Given the description of an element on the screen output the (x, y) to click on. 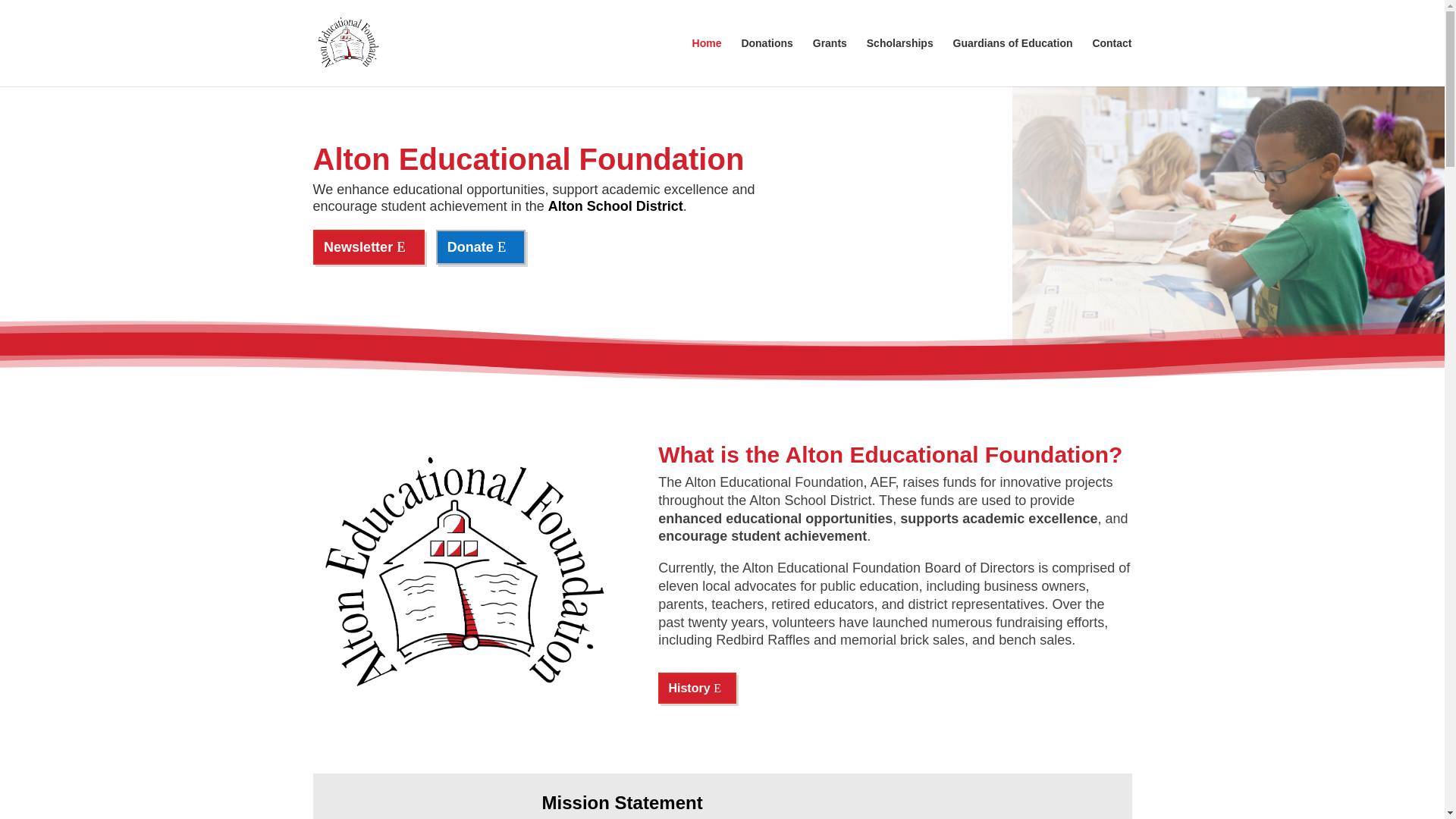
Scholarships (899, 61)
Donate (480, 246)
Newsletter (369, 246)
Donations (766, 61)
Guardians of Education (1013, 61)
History (696, 687)
